Given the description of an element on the screen output the (x, y) to click on. 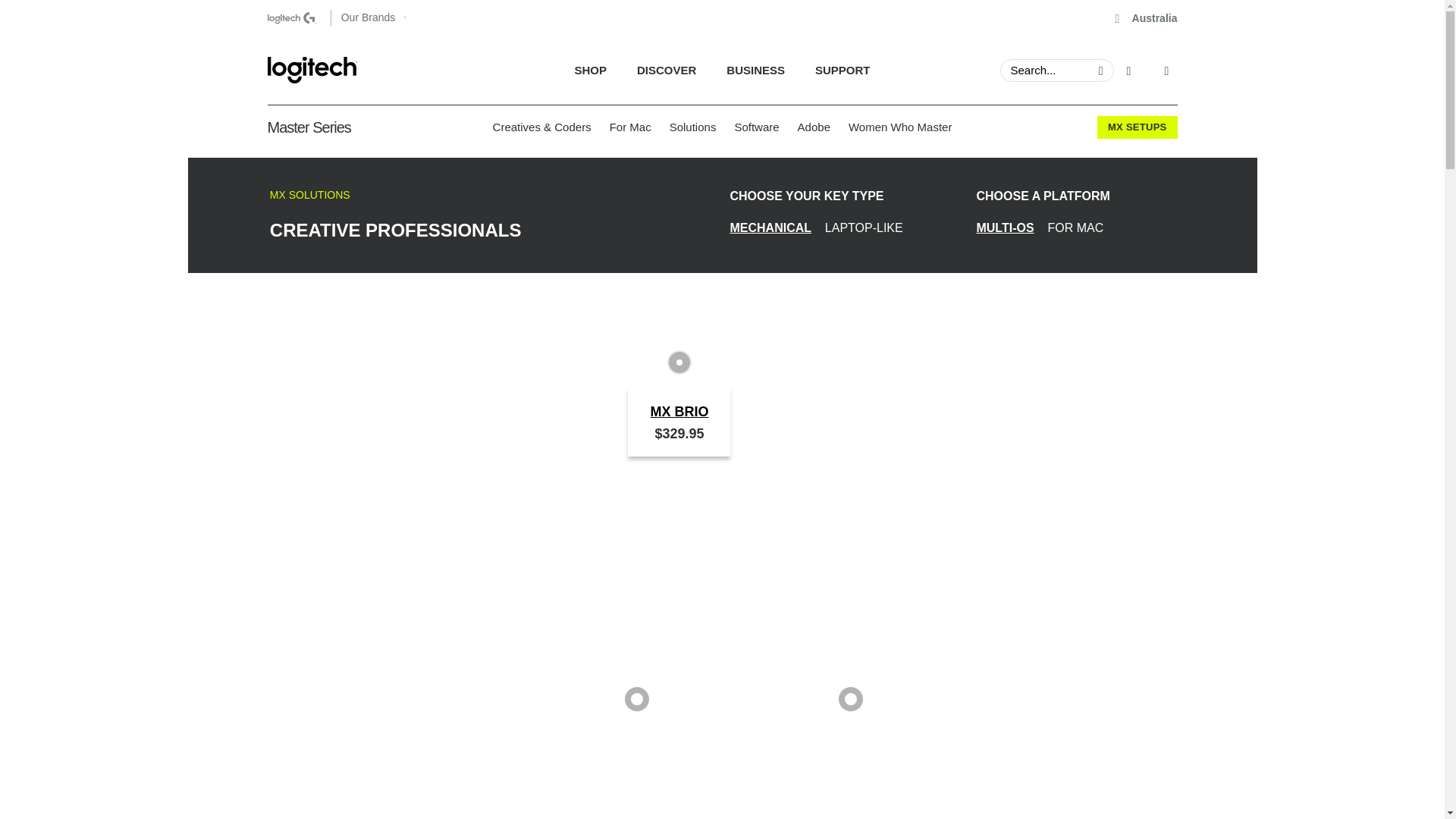
Australia (722, 70)
Our Brands (1146, 18)
SHOP (722, 70)
